Given the description of an element on the screen output the (x, y) to click on. 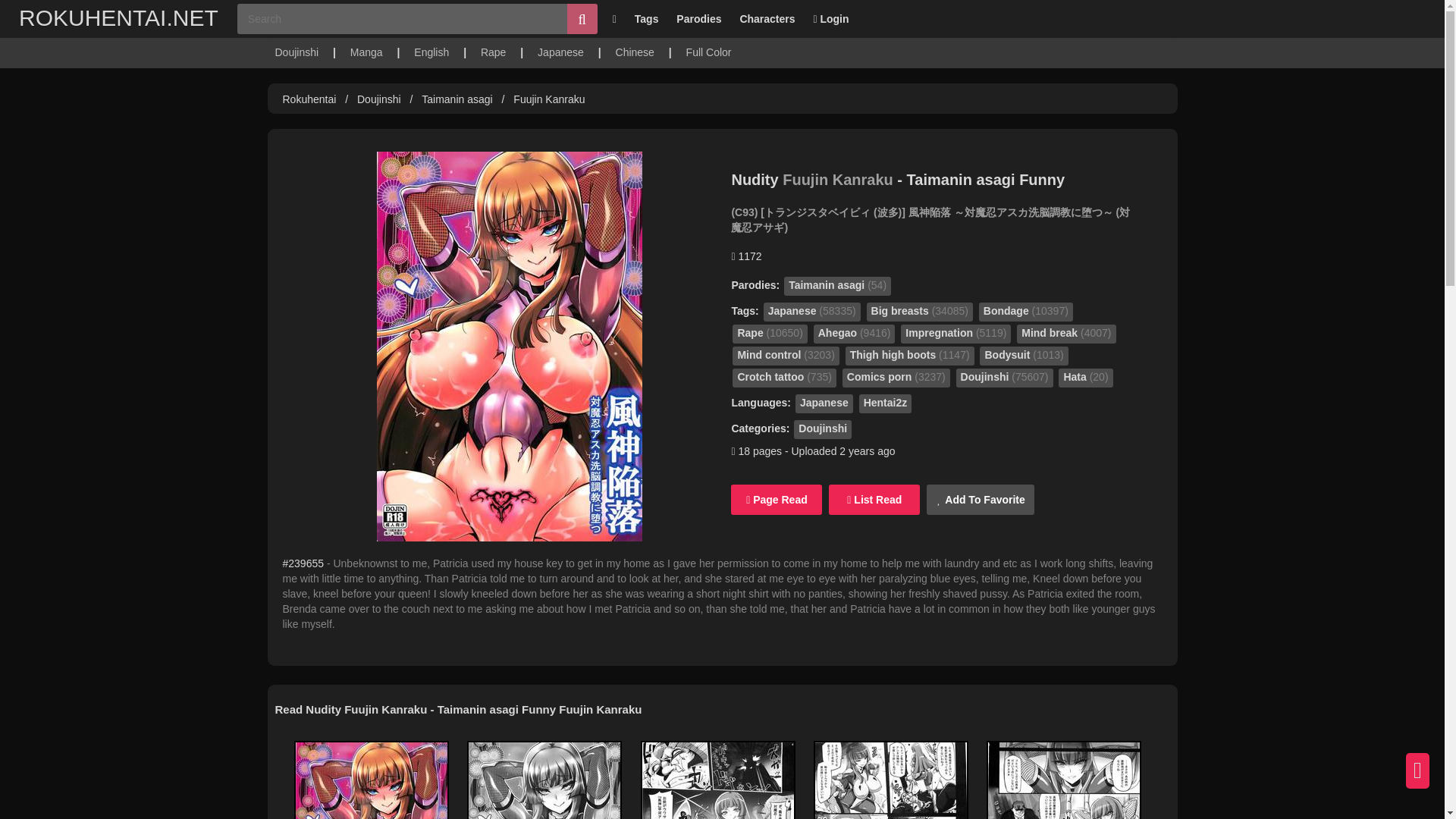
Characters (767, 18)
Full Color (708, 51)
Chinese (634, 51)
Nudity Fuujin Kanraku - Taimanin asagi Funny (897, 179)
Japanese  (560, 51)
Login (830, 18)
rokuhentai.net (118, 18)
Doujinshi (378, 99)
Parodies (698, 18)
Japanese (560, 51)
Taimanin asagi (458, 99)
Characters (767, 18)
Doujinshi (296, 51)
Nudity Fuujin Kanraku - Taimanin asagi Funny (897, 179)
Rokuhentai (309, 99)
